Given the description of an element on the screen output the (x, y) to click on. 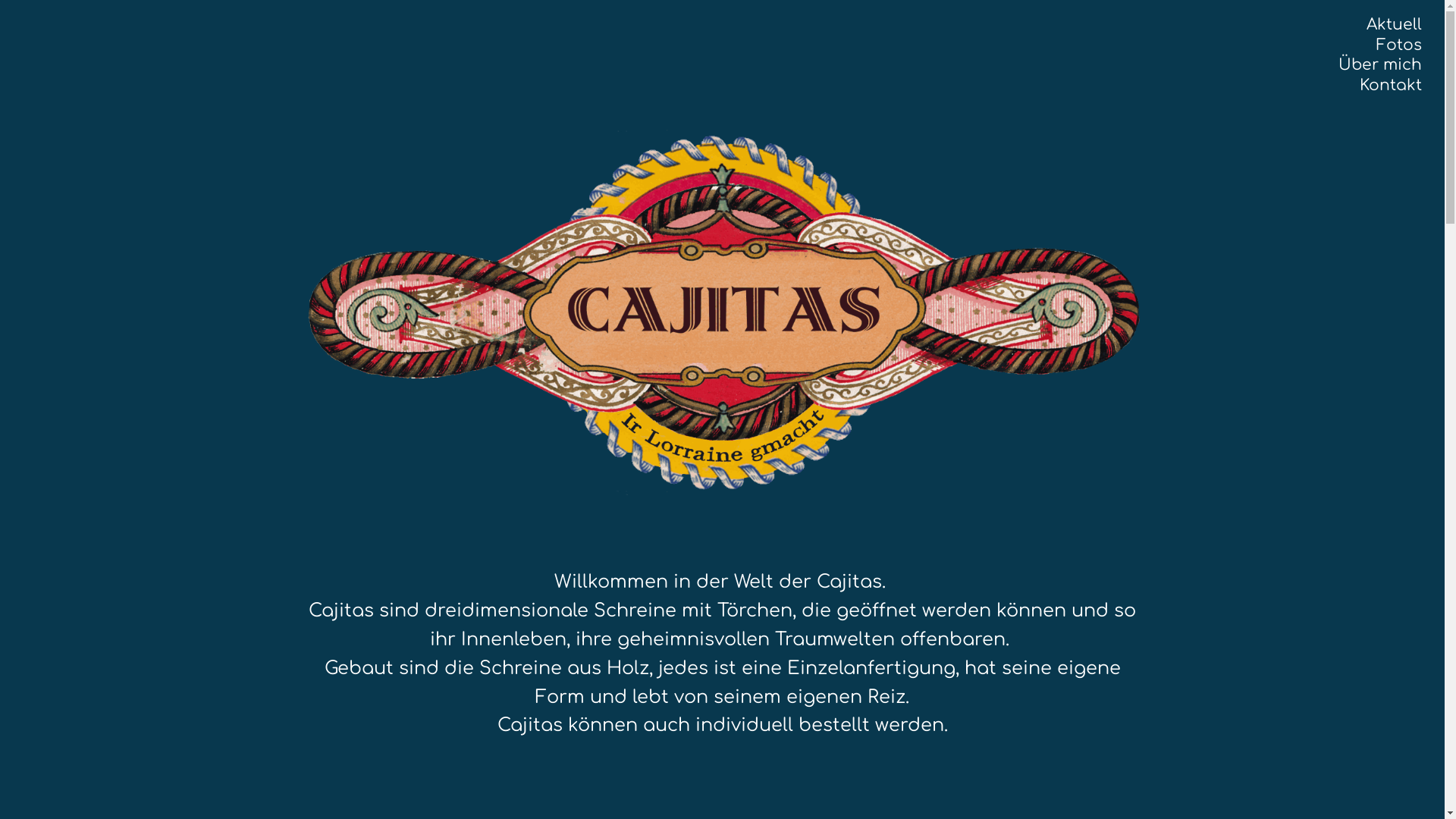
Kontakt Element type: text (1390, 85)
Fotos Element type: text (1398, 44)
Aktuell Element type: text (1393, 24)
